Given the description of an element on the screen output the (x, y) to click on. 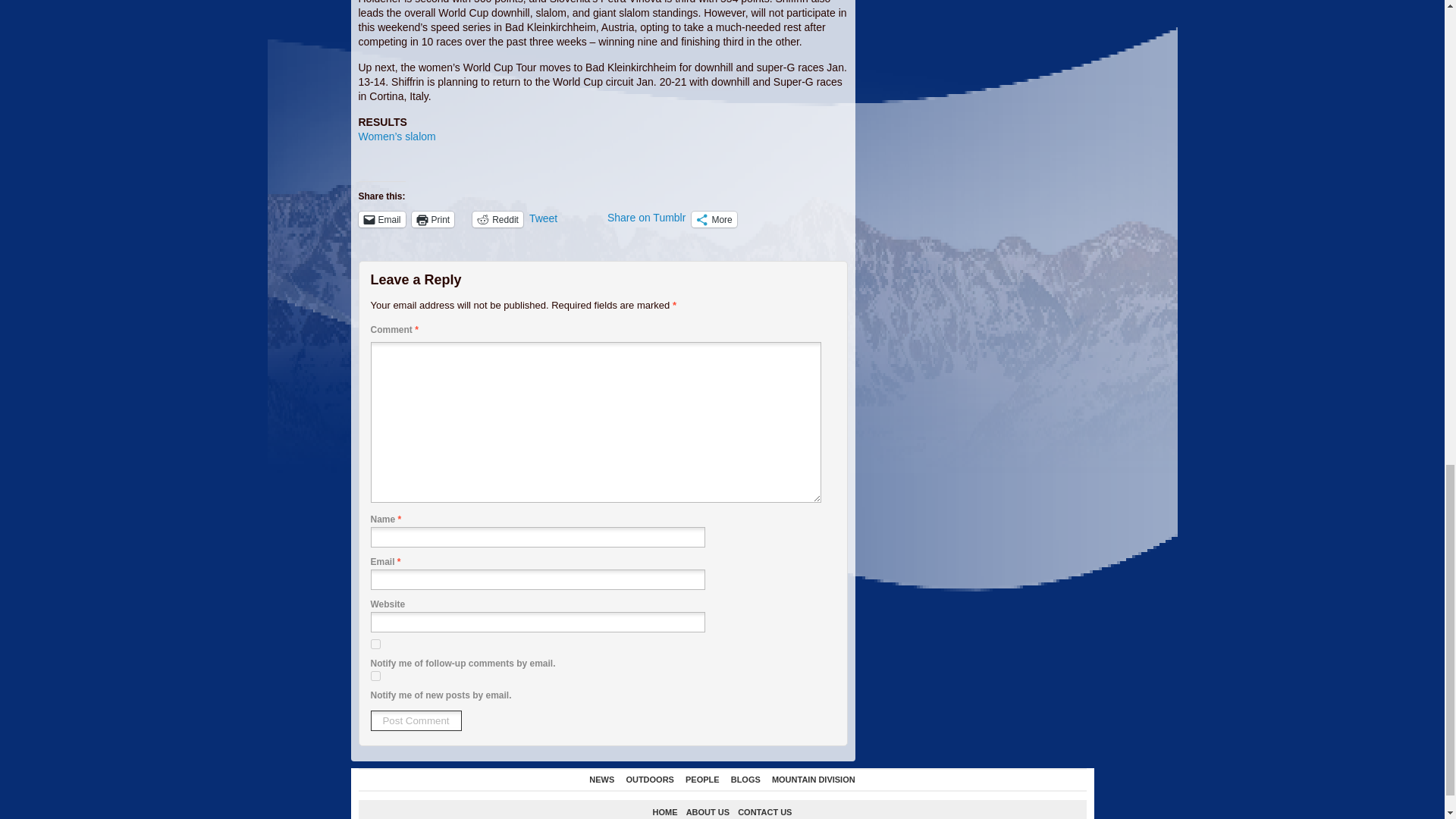
BLOGS (745, 778)
Click to print (433, 219)
Print (433, 219)
NEWS (601, 778)
Click to email a link to a friend (381, 219)
Share on Tumblr (646, 218)
subscribe (374, 644)
Click to share on Reddit (496, 219)
subscribe (374, 675)
Email (381, 219)
